Given the description of an element on the screen output the (x, y) to click on. 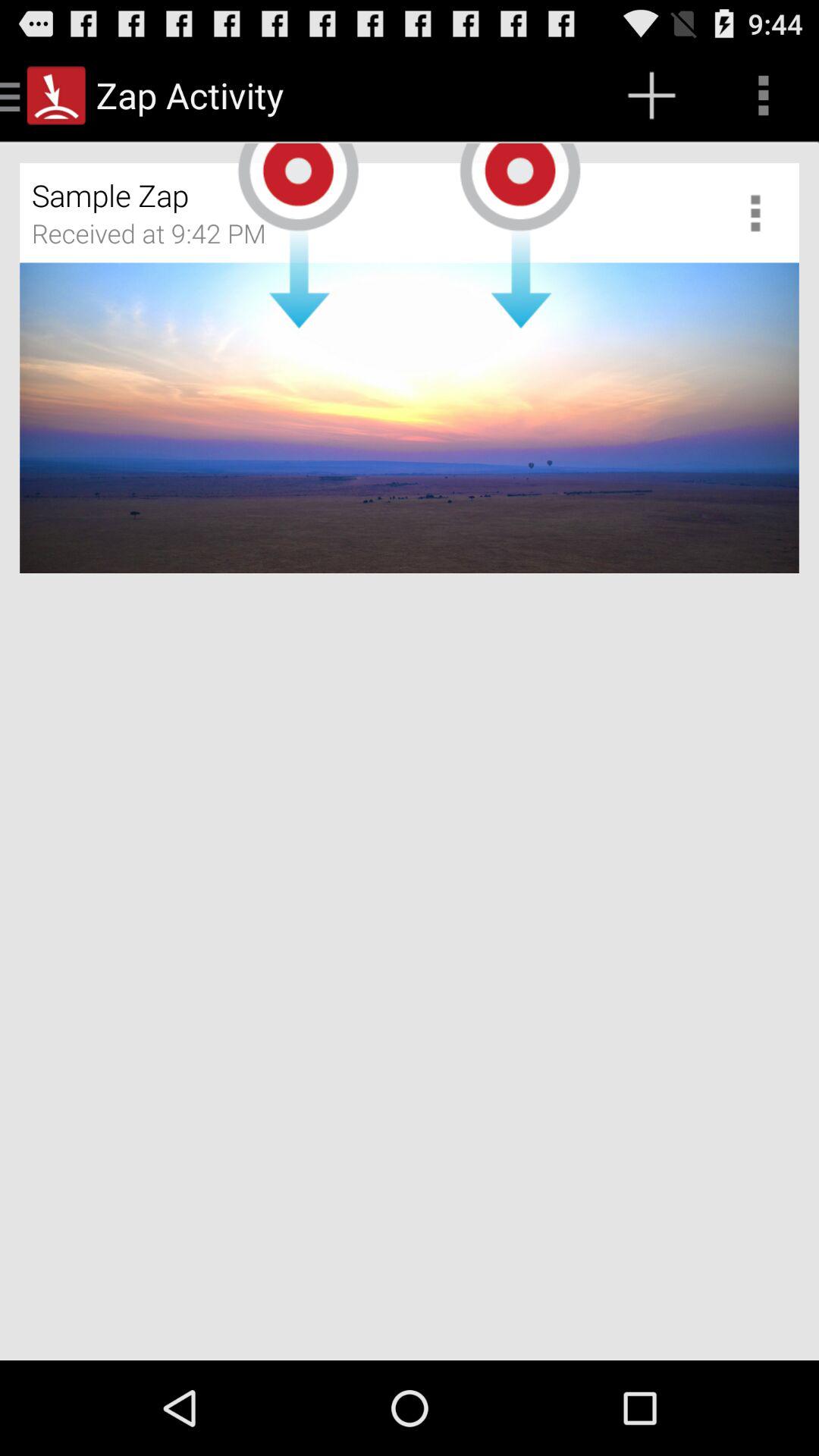
press app above sample zap (651, 95)
